Given the description of an element on the screen output the (x, y) to click on. 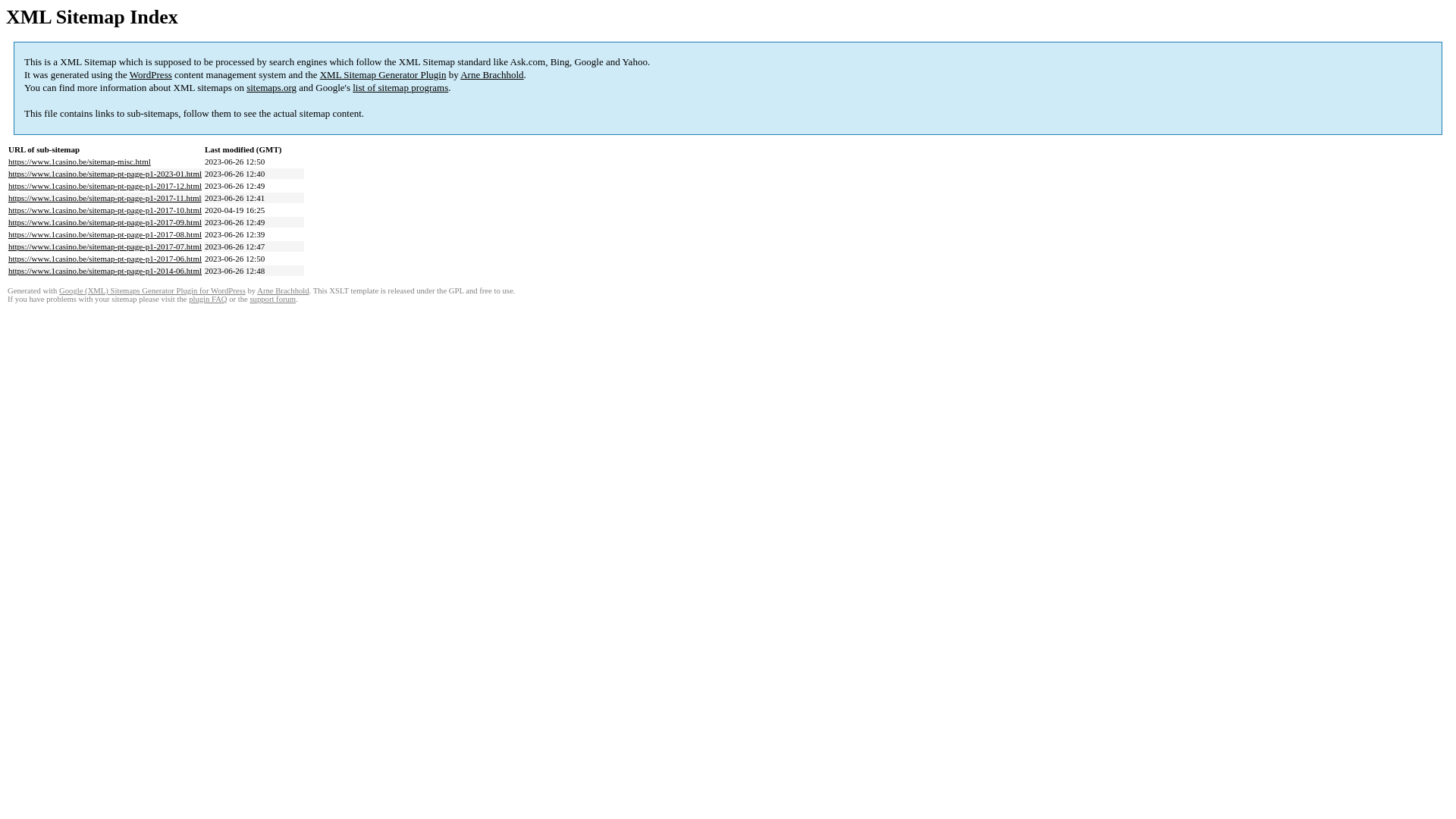
XML Sitemap Generator Plugin Element type: text (383, 74)
https://www.1casino.be/sitemap-pt-page-p1-2017-09.html Element type: text (104, 221)
https://www.1casino.be/sitemap-pt-page-p1-2017-10.html Element type: text (104, 209)
https://www.1casino.be/sitemap-pt-page-p1-2017-08.html Element type: text (104, 233)
WordPress Element type: text (150, 74)
list of sitemap programs Element type: text (400, 87)
https://www.1casino.be/sitemap-pt-page-p1-2023-01.html Element type: text (104, 173)
https://www.1casino.be/sitemap-pt-page-p1-2017-06.html Element type: text (104, 258)
https://www.1casino.be/sitemap-pt-page-p1-2014-06.html Element type: text (104, 270)
plugin FAQ Element type: text (207, 298)
Arne Brachhold Element type: text (491, 74)
support forum Element type: text (272, 298)
Arne Brachhold Element type: text (282, 290)
https://www.1casino.be/sitemap-misc.html Element type: text (79, 161)
sitemaps.org Element type: text (271, 87)
Google (XML) Sitemaps Generator Plugin for WordPress Element type: text (152, 290)
https://www.1casino.be/sitemap-pt-page-p1-2017-12.html Element type: text (104, 185)
https://www.1casino.be/sitemap-pt-page-p1-2017-07.html Element type: text (104, 246)
https://www.1casino.be/sitemap-pt-page-p1-2017-11.html Element type: text (104, 197)
